Given the description of an element on the screen output the (x, y) to click on. 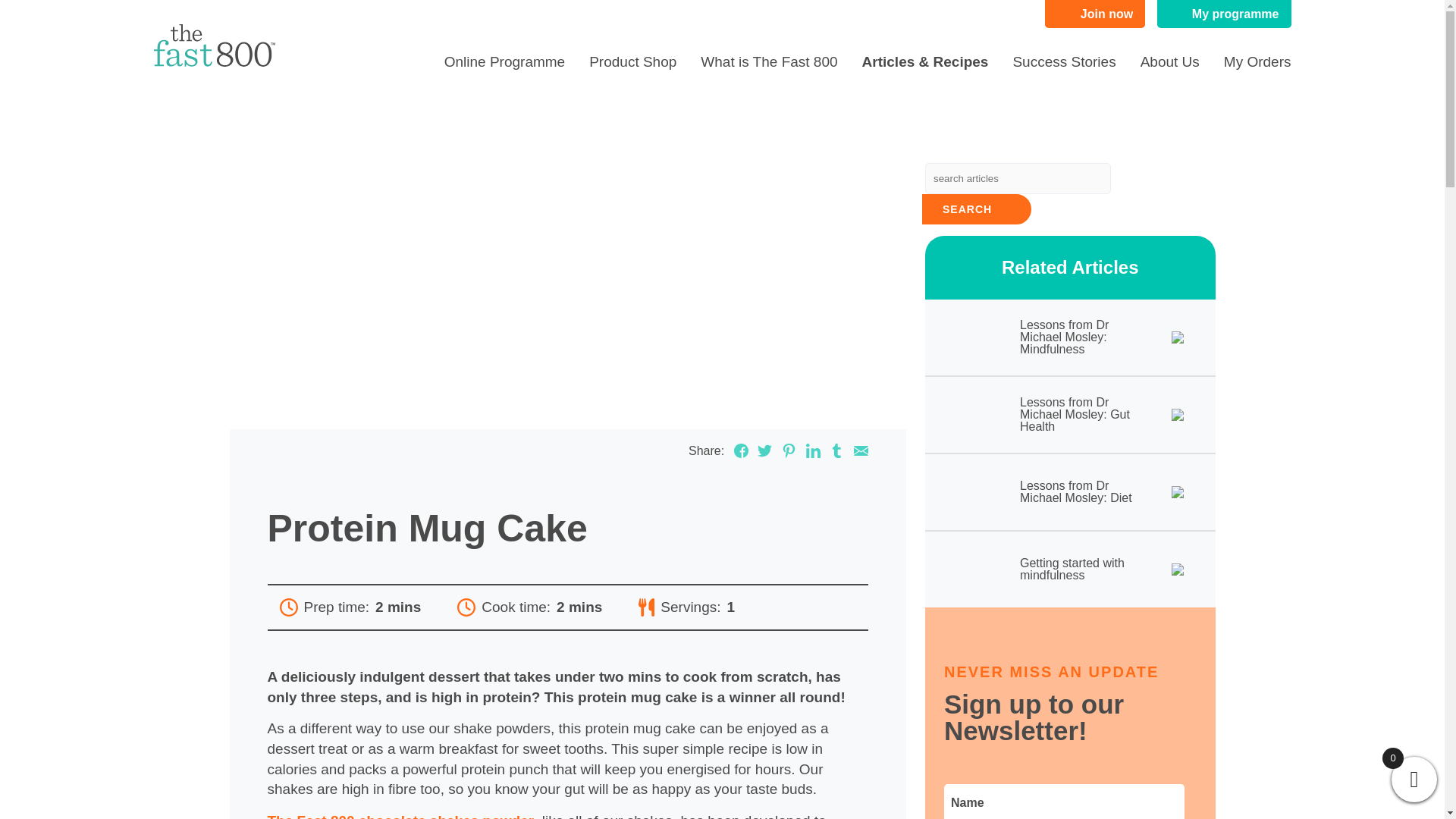
My programme (1223, 13)
My Orders (1257, 61)
Join now (1094, 13)
Product Shop (633, 61)
Online Programme (504, 61)
About Us (1169, 61)
The Fast 800 chocolate shakes powder (400, 816)
What is The Fast 800 (768, 61)
Success Stories (1063, 61)
